Given the description of an element on the screen output the (x, y) to click on. 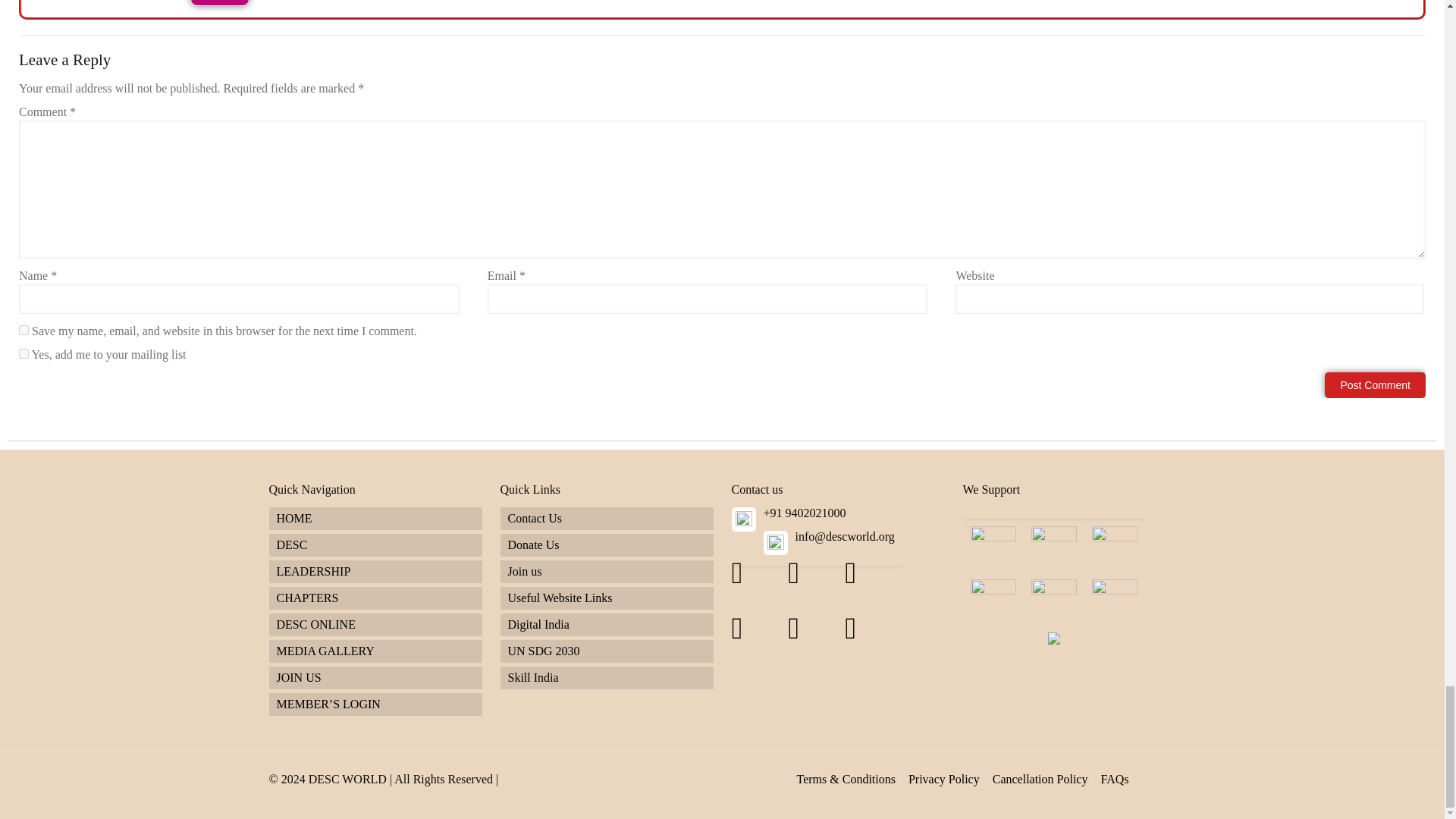
Post Comment (1374, 385)
1 (23, 353)
yes (23, 329)
